Given the description of an element on the screen output the (x, y) to click on. 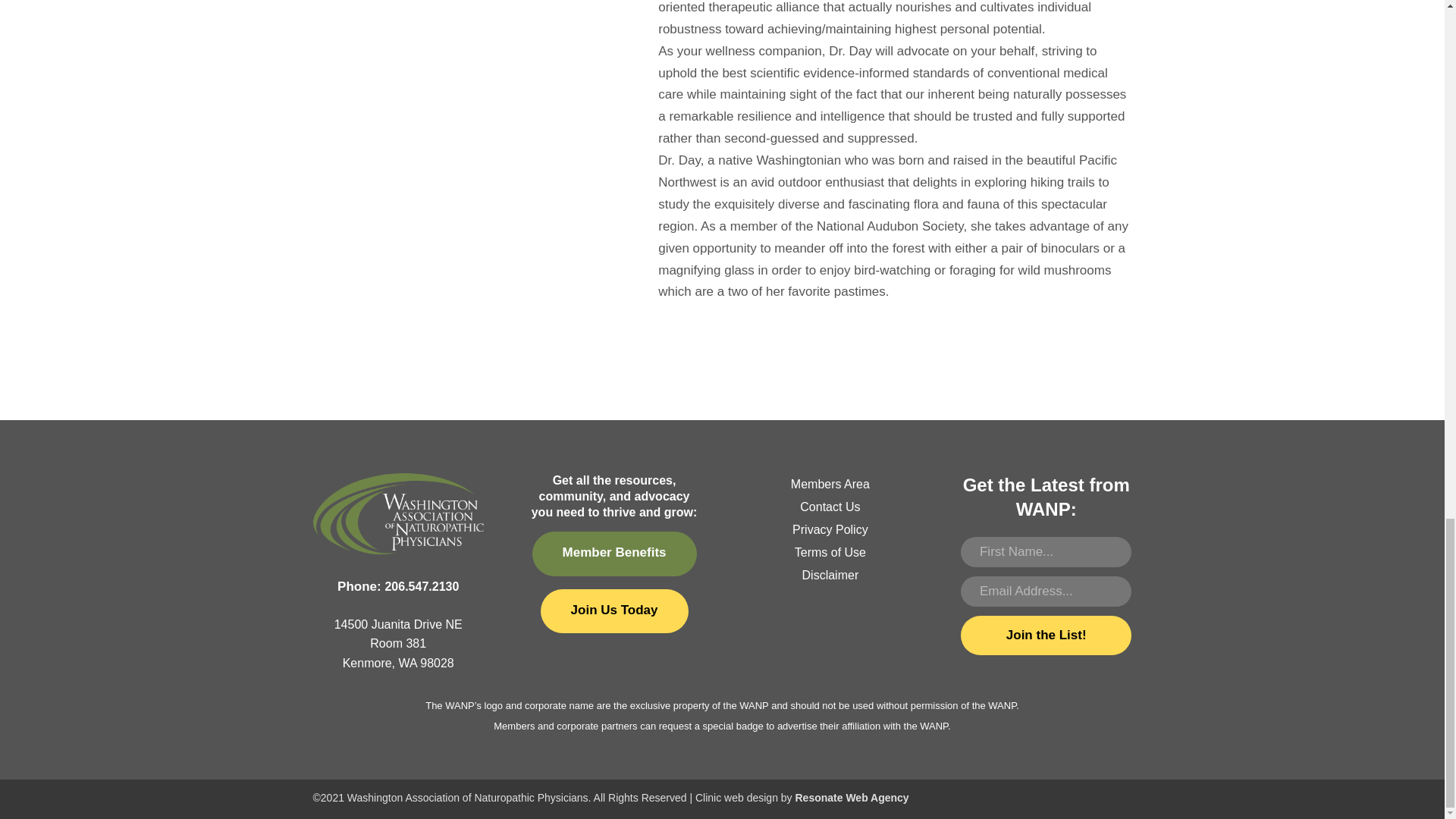
Join the List! (1045, 635)
wanp-logo-footer (398, 513)
